Given the description of an element on the screen output the (x, y) to click on. 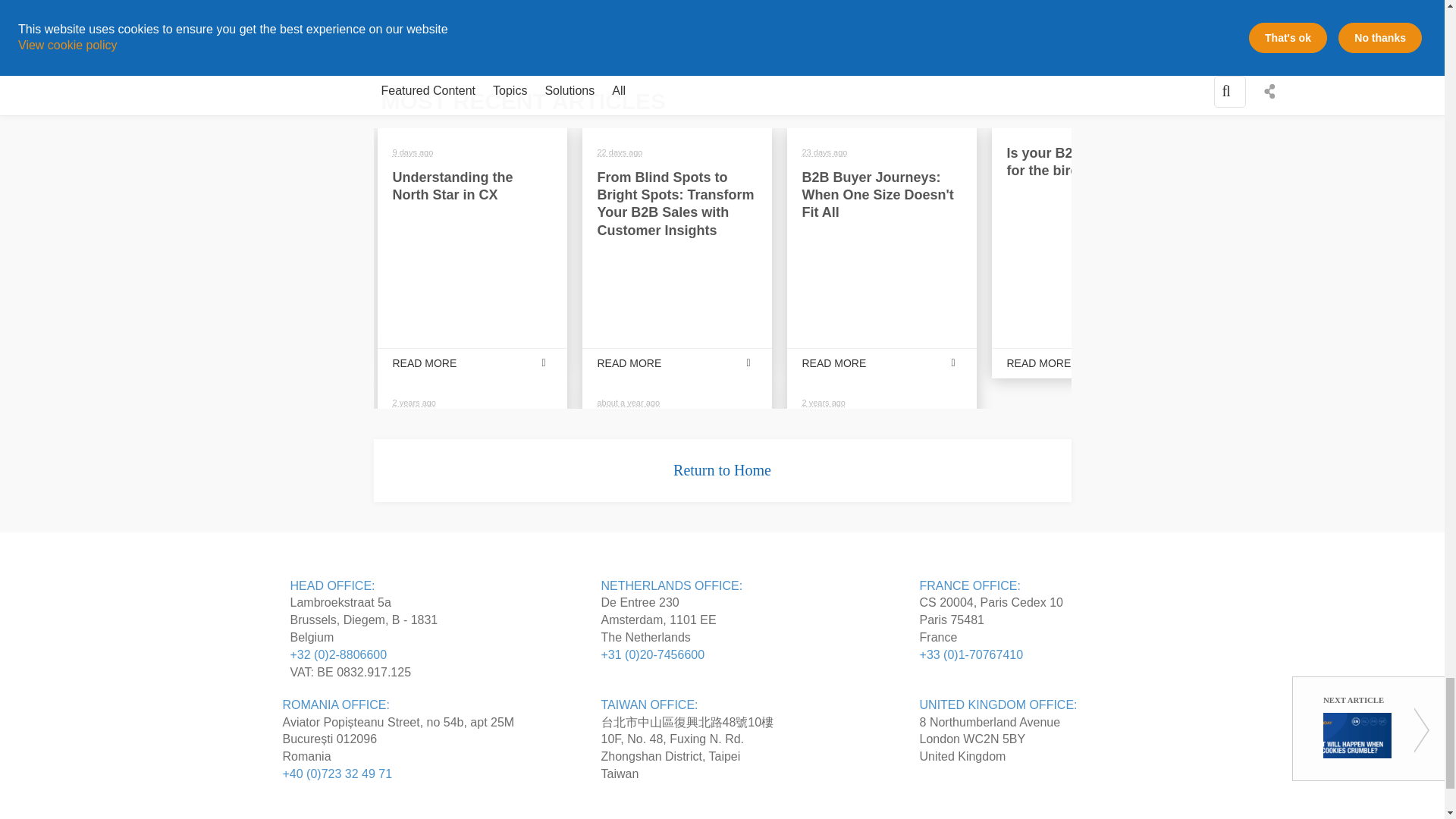
2024-07-04T05:27:44 (619, 152)
2024-07-03T11:14:30 (824, 152)
2023-03-30T05:03:25 (628, 402)
2022-11-22T10:23:55 (414, 402)
2022-10-20T09:06:47 (823, 402)
2024-07-17T08:40:59 (413, 152)
